Given the description of an element on the screen output the (x, y) to click on. 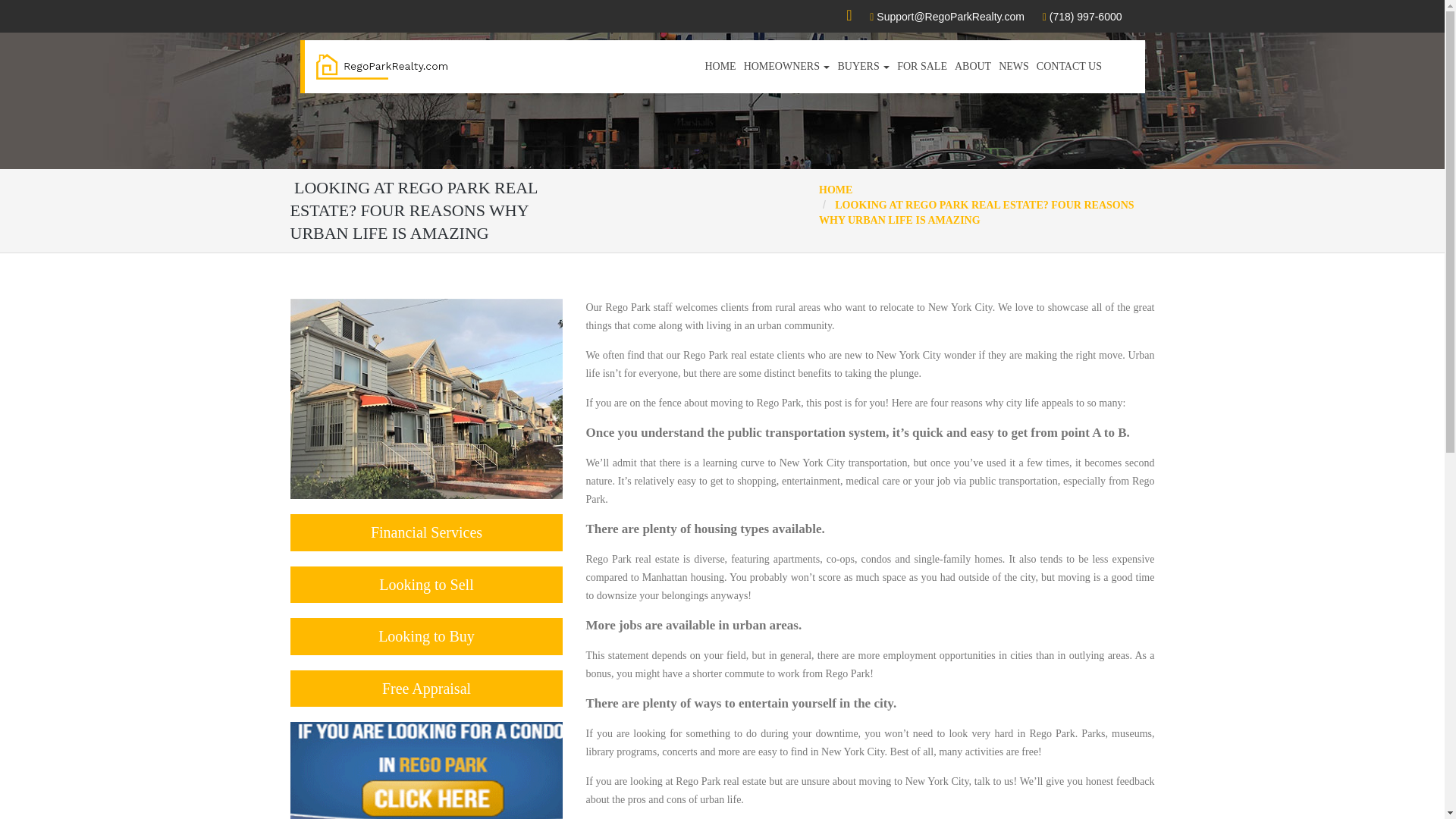
ABOUT (972, 66)
FOR SALE (921, 66)
Buyers (862, 66)
NEWS (1013, 66)
Homeowners (786, 66)
HOME (719, 66)
Free Appraisal (425, 688)
Home (719, 66)
HOME (834, 189)
Financial Services (425, 532)
BUYERS (862, 66)
CONTACT US (1068, 66)
Looking to Buy (425, 636)
HOMEOWNERS (786, 66)
